Given the description of an element on the screen output the (x, y) to click on. 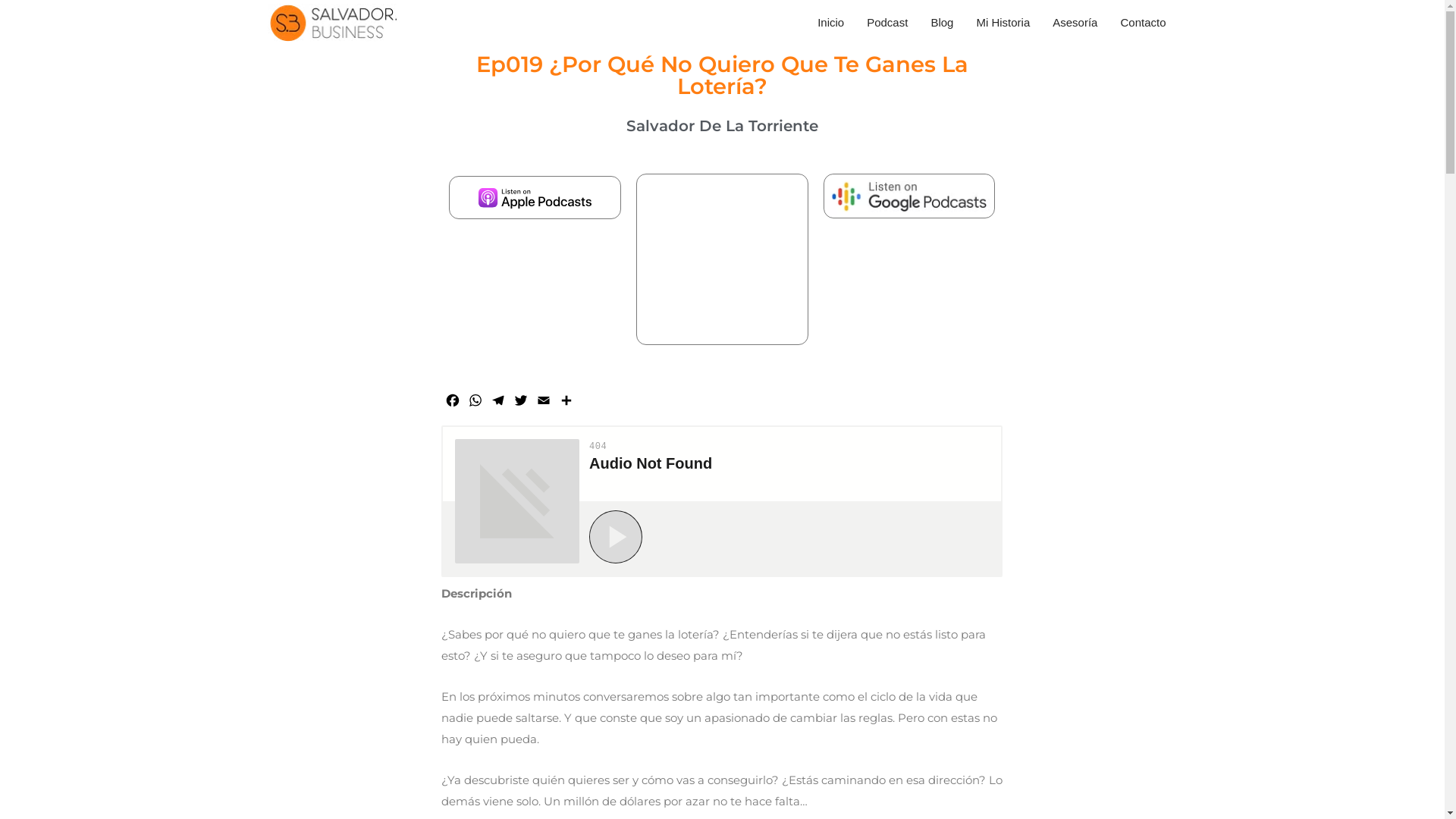
Contacto Element type: text (1142, 22)
Email Element type: text (543, 402)
Facebook Element type: text (452, 402)
Inicio Element type: text (830, 22)
Podcast Element type: text (887, 22)
Telegram Element type: text (497, 402)
Twitter Element type: text (520, 402)
Blog Element type: text (941, 22)
Compartir Element type: text (566, 402)
WhatsApp Element type: text (475, 402)
Mi Historia Element type: text (1002, 22)
